Given the description of an element on the screen output the (x, y) to click on. 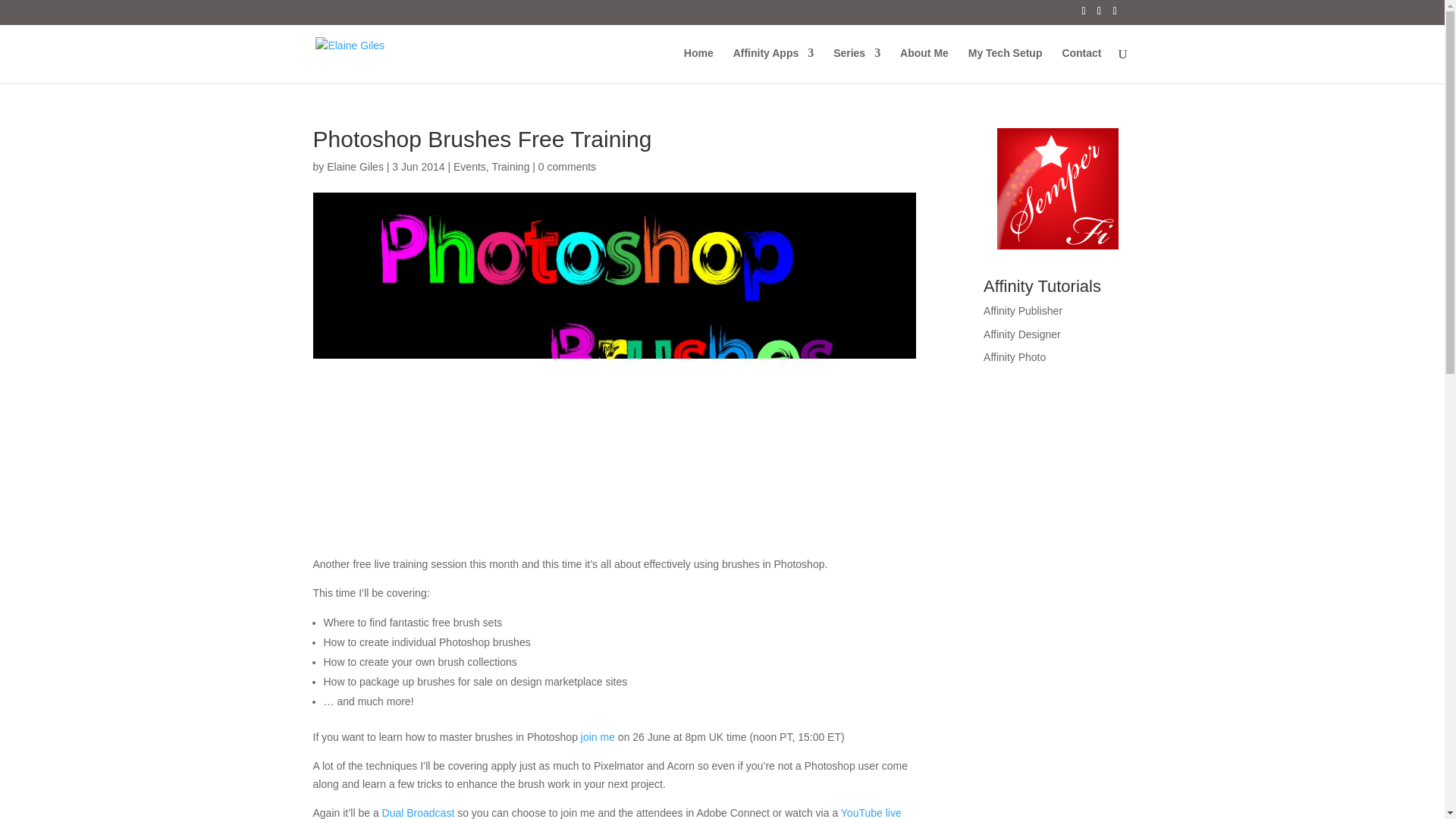
Training (510, 166)
YouTube live stream (607, 812)
0 comments (566, 166)
Affinity Photo (1014, 357)
join me (597, 736)
About Me (924, 65)
Going Live with Dual Broadcast (417, 812)
Series (856, 65)
Affinity Apps (773, 65)
Elaine Giles (355, 166)
